Given the description of an element on the screen output the (x, y) to click on. 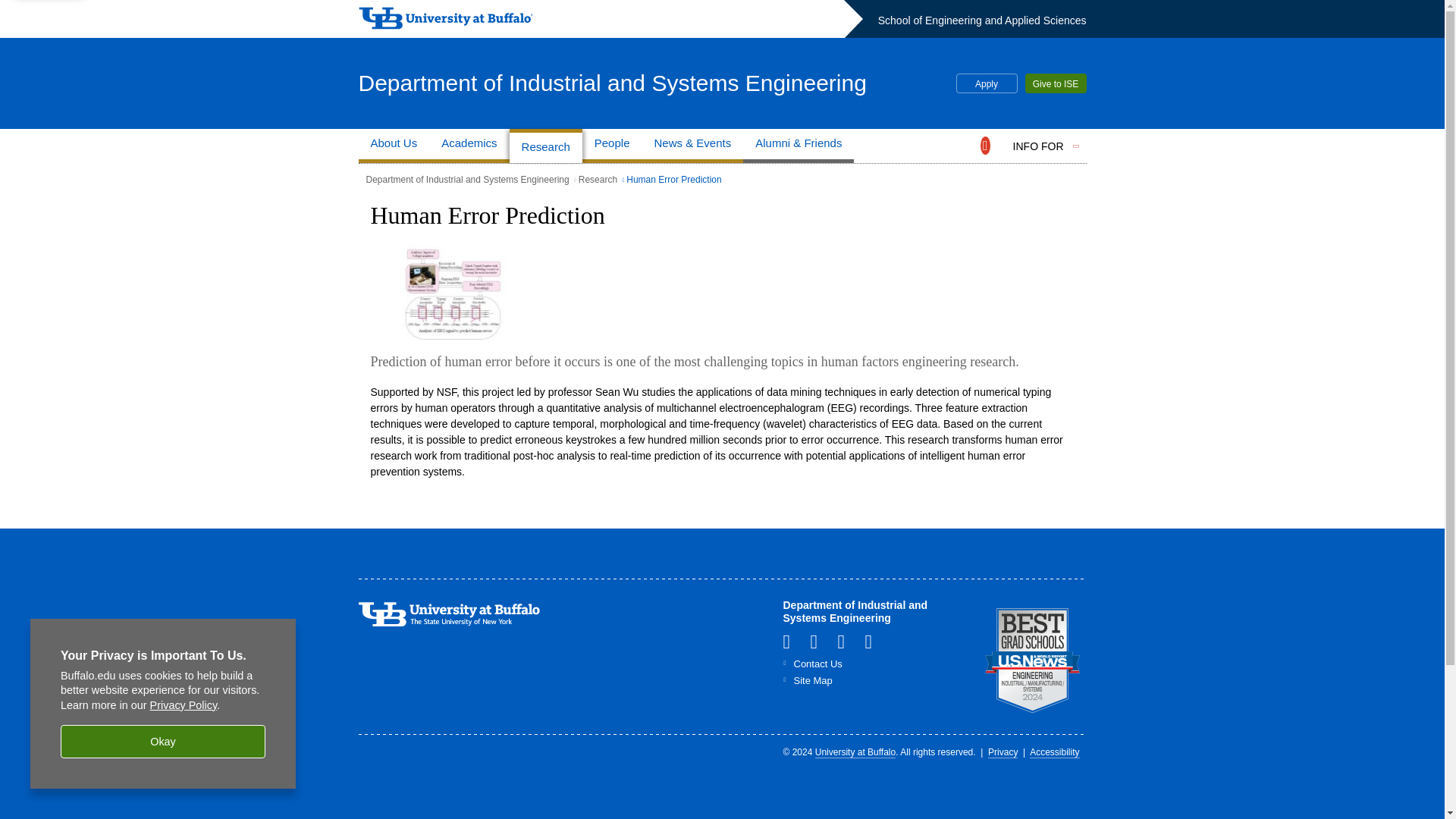
Apply (985, 83)
This link opens a page in a new window or tab. (1032, 659)
About Us (393, 145)
Instagram (873, 641)
School of Engineering and Applied Sciences (981, 19)
Academics (468, 145)
Department of Industrial and Systems Engineering (612, 82)
Facebook (819, 641)
X (847, 641)
Give to ISE (1055, 83)
LinkedIn (792, 641)
